Given the description of an element on the screen output the (x, y) to click on. 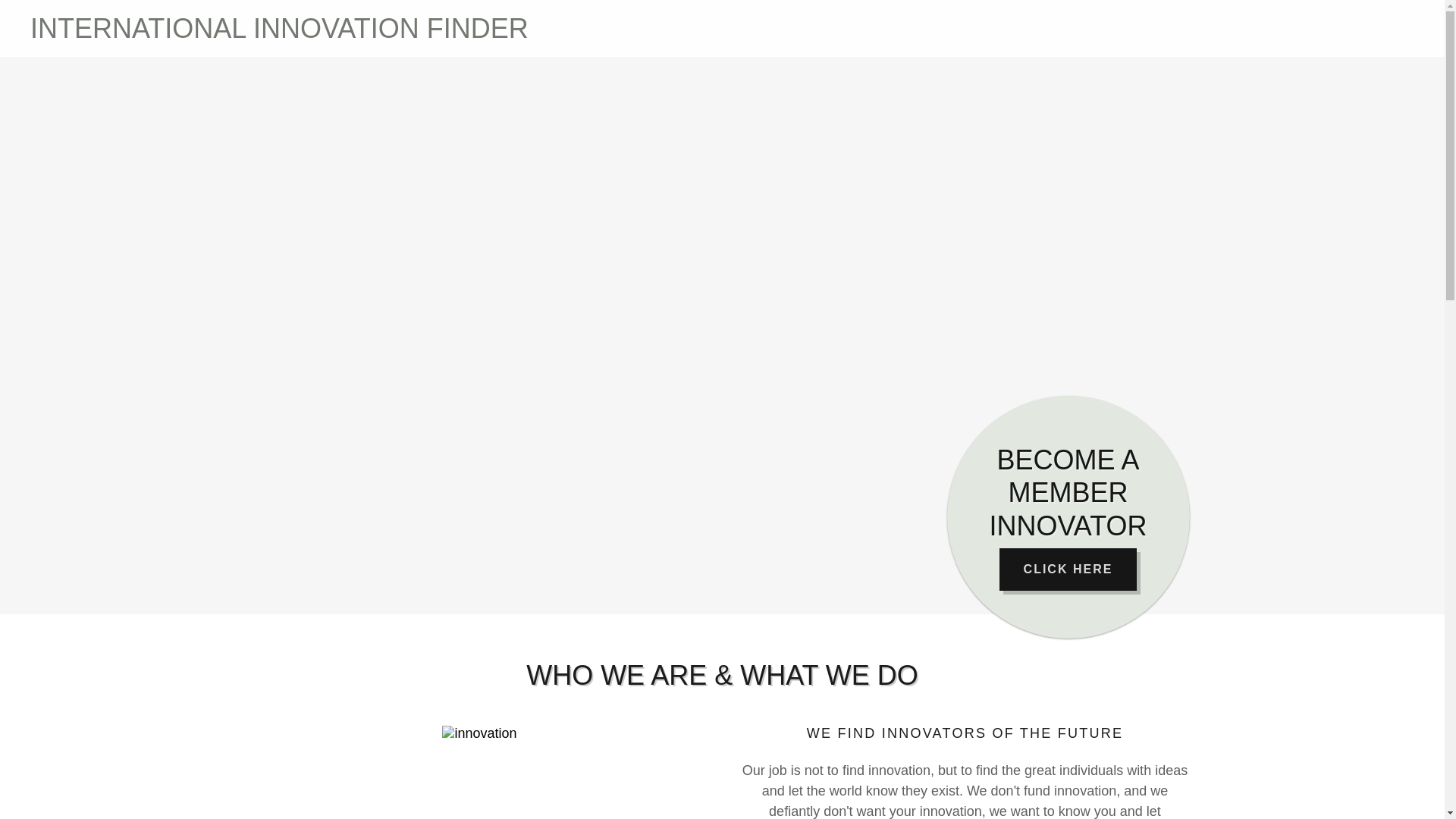
International Innovation Finder (376, 32)
INTERNATIONAL INNOVATION FINDER (376, 32)
CLICK HERE (1067, 568)
